Given the description of an element on the screen output the (x, y) to click on. 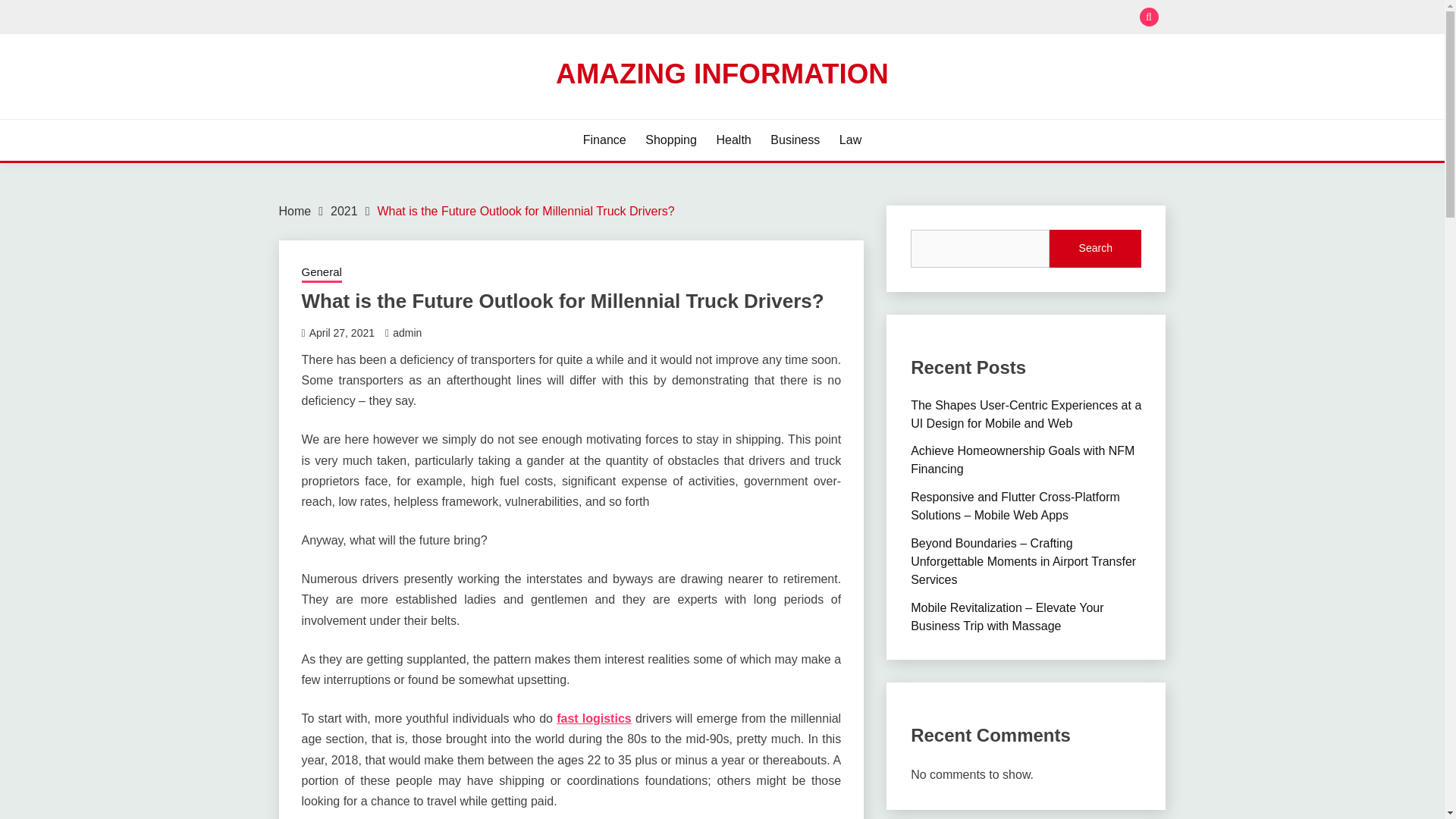
Business (794, 140)
Search (1095, 248)
What is the Future Outlook for Millennial Truck Drivers? (525, 210)
admin (407, 332)
General (321, 273)
fast logistics (593, 717)
Home (295, 210)
Law (850, 140)
Achieve Homeownership Goals with NFM Financing (1022, 459)
Finance (604, 140)
2021 (344, 210)
Search (832, 18)
April 27, 2021 (341, 332)
AMAZING INFORMATION (722, 73)
Health (733, 140)
